Given the description of an element on the screen output the (x, y) to click on. 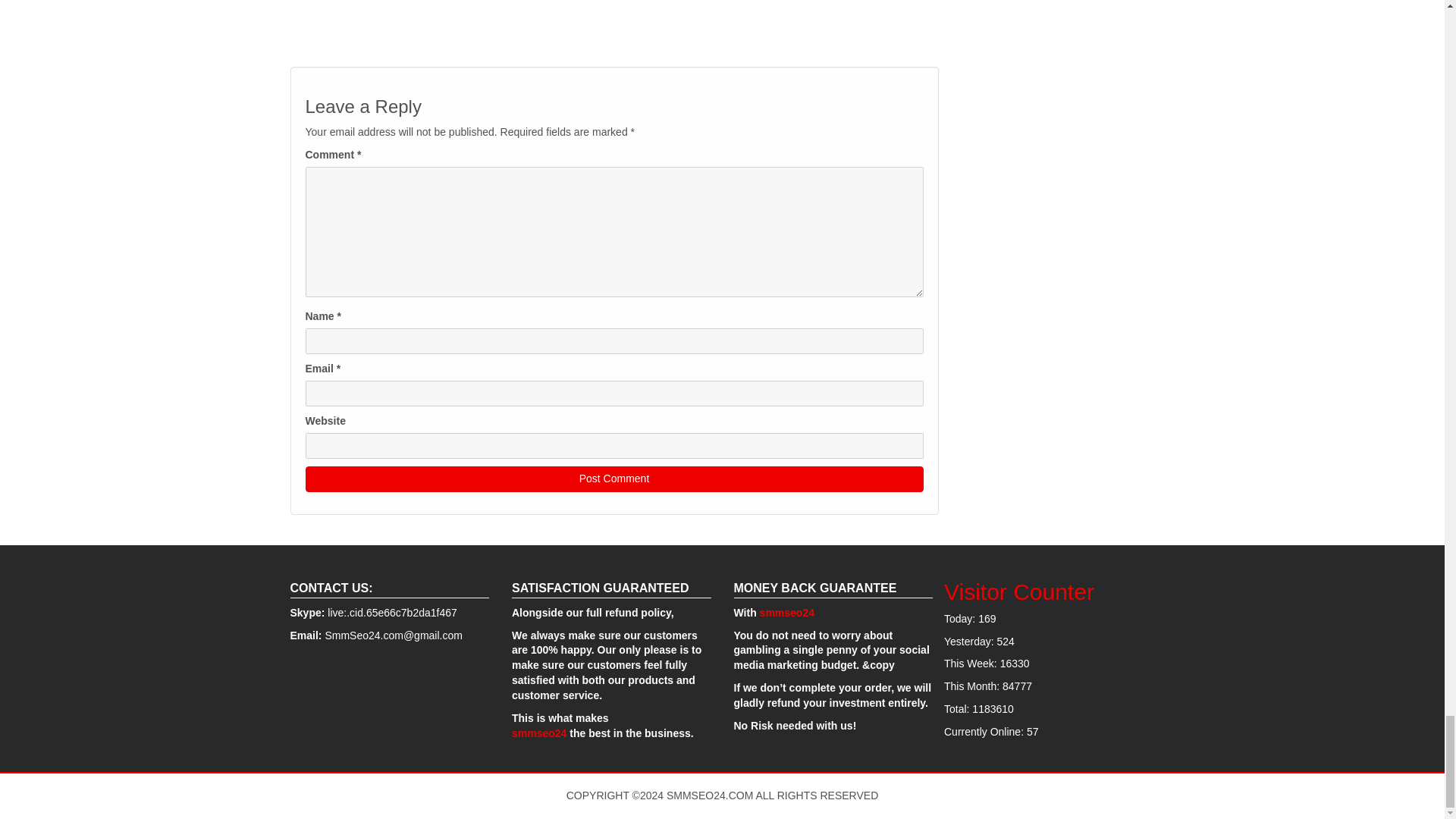
Post Comment (613, 479)
